Given the description of an element on the screen output the (x, y) to click on. 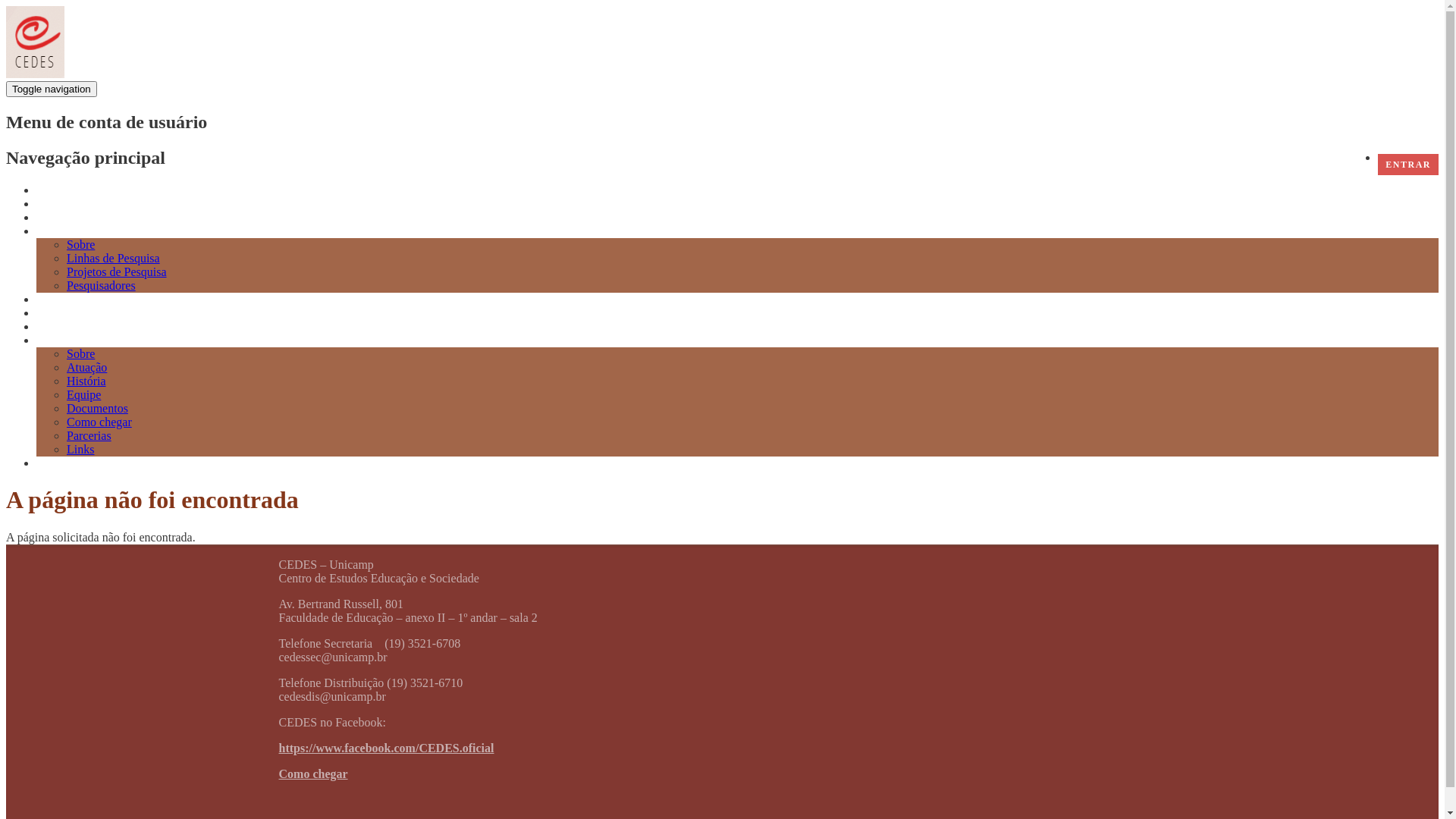
O CEDES Element type: text (61, 340)
Como chegar Element type: text (98, 421)
ASSOCIE-SE Element type: text (71, 463)
Toggle navigation Element type: text (51, 89)
PESQUISA Element type: text (65, 231)
Parcerias Element type: text (88, 435)
Sobre Element type: text (80, 353)
ENTRAR Element type: text (1407, 164)
Links Element type: text (80, 448)
Linhas de Pesquisa Element type: text (113, 257)
AGENDA Element type: text (60, 217)
Sobre Element type: text (80, 244)
Projetos de Pesquisa Element type: text (116, 271)
Como chegar Element type: text (313, 773)
Pesquisadores Element type: text (100, 285)
Equipe Element type: text (83, 394)
SEB Element type: text (47, 326)
https://www.facebook.com/CEDES.oficial Element type: text (386, 747)
Documentos Element type: text (97, 407)
